Given the description of an element on the screen output the (x, y) to click on. 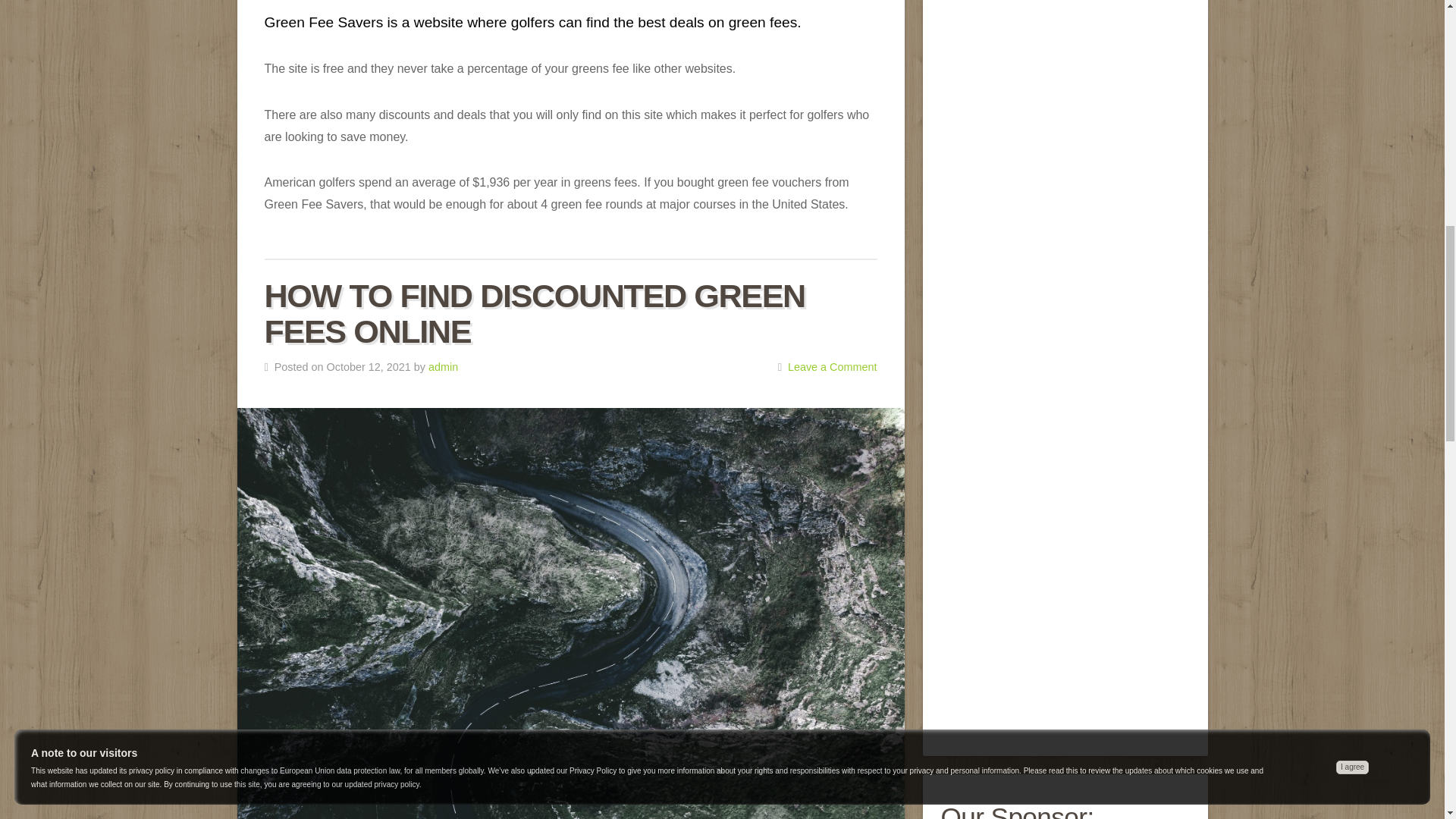
YouTube video player (1065, 623)
YouTube video player (1065, 429)
Leave a Comment (832, 367)
HOW TO FIND DISCOUNTED GREEN FEES ONLINE (534, 313)
YouTube video player (1065, 60)
YouTube video player (1065, 234)
admin (443, 367)
Posts by admin (443, 367)
